Given the description of an element on the screen output the (x, y) to click on. 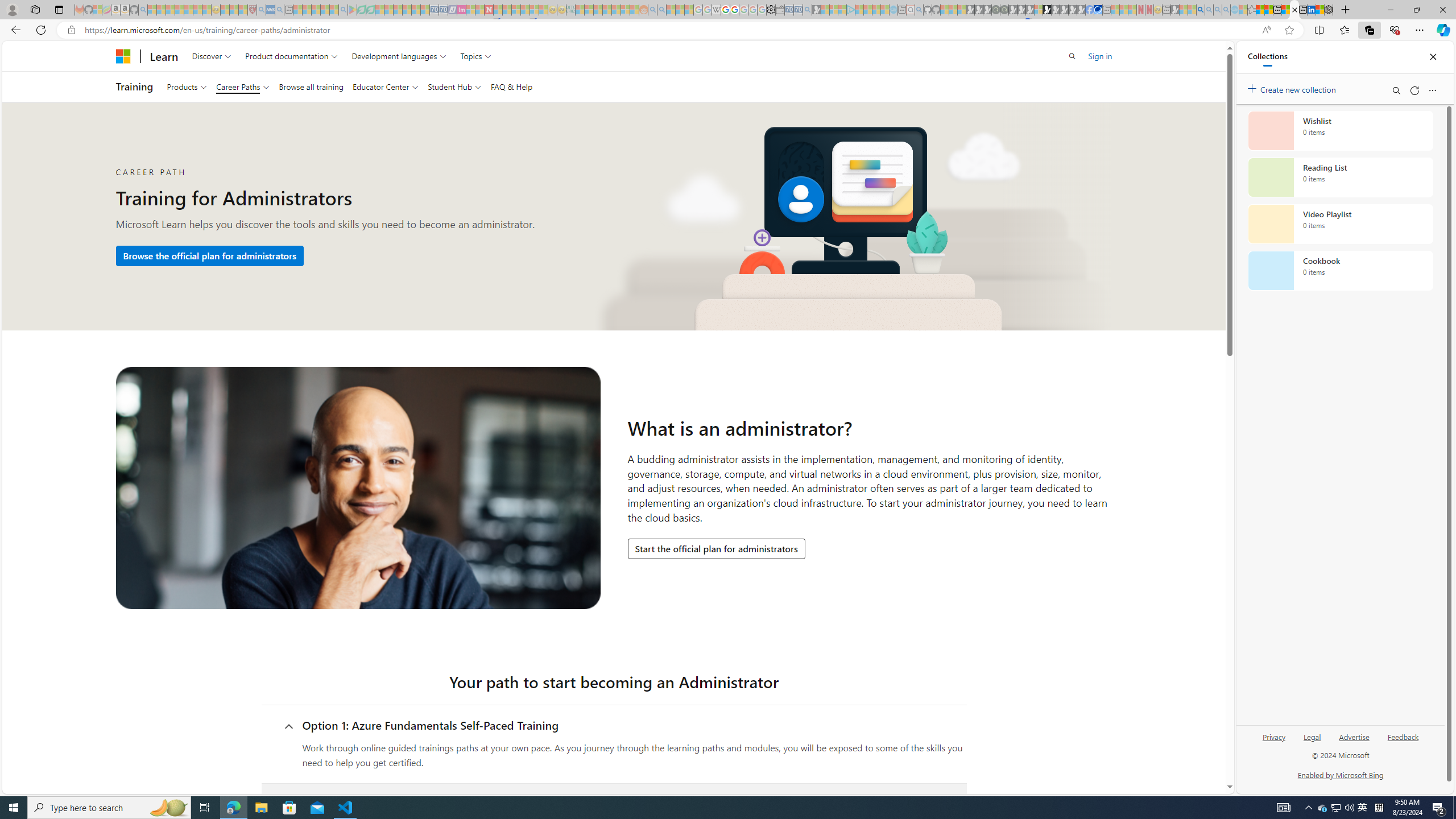
Product documentation (291, 55)
AQI & Health | AirNow.gov (1098, 9)
